Given the description of an element on the screen output the (x, y) to click on. 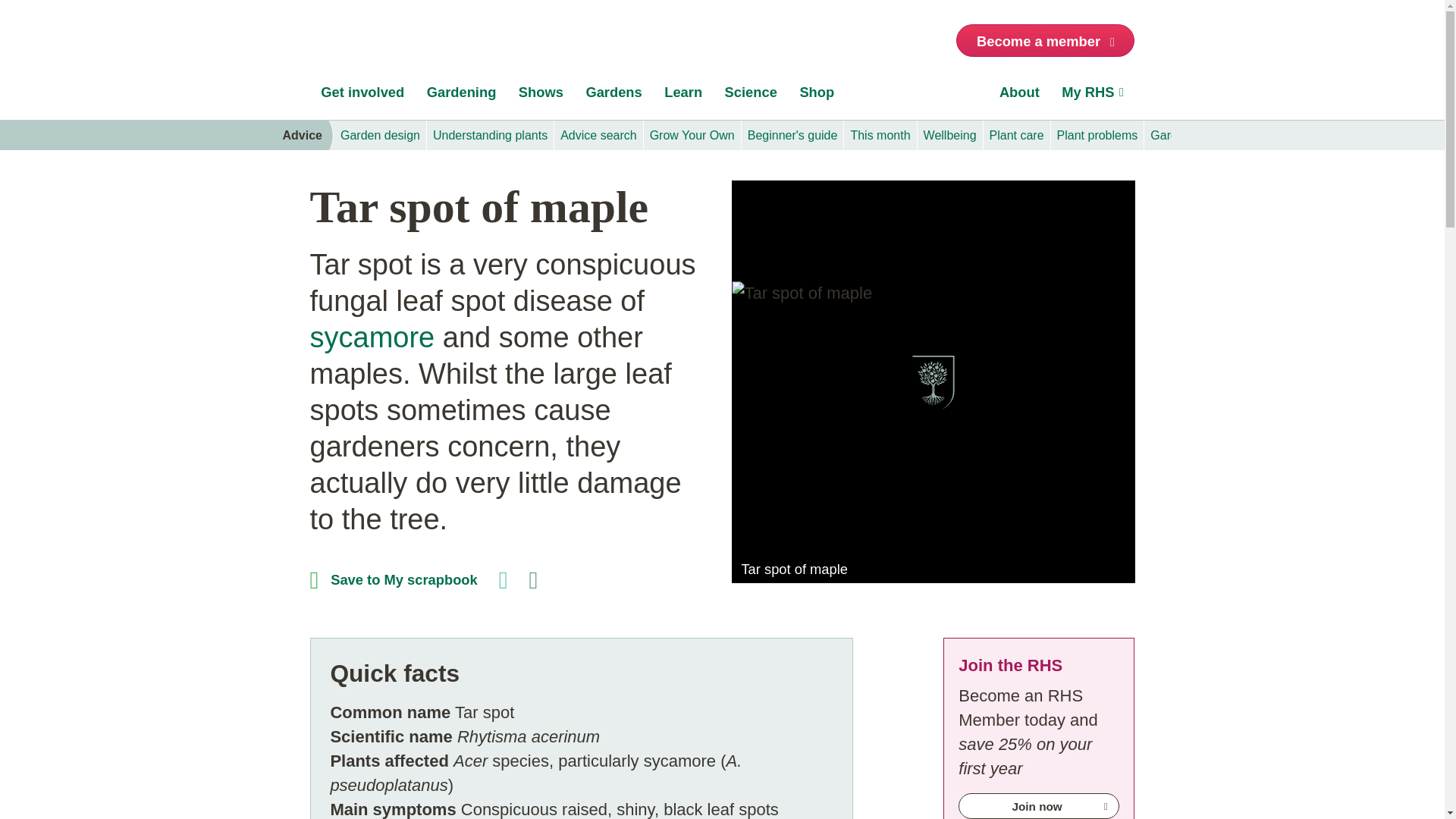
Gardening (460, 96)
Become a member (1045, 40)
Learn (682, 96)
Gardens (614, 96)
About (1018, 96)
Get involved (361, 96)
Science (751, 96)
Home (353, 43)
Shop (817, 96)
Shows (540, 96)
